Given the description of an element on the screen output the (x, y) to click on. 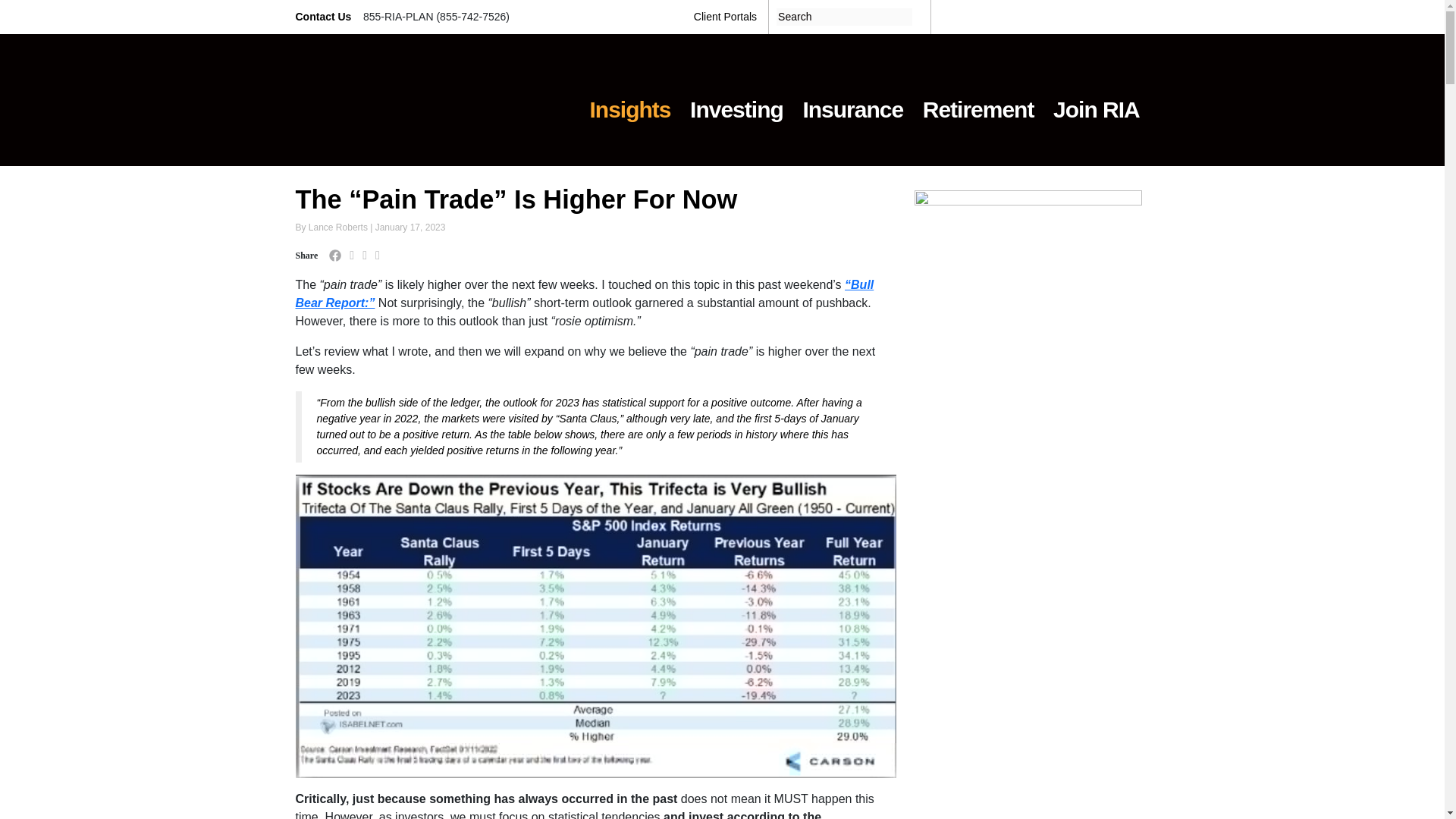
Insights (630, 99)
Investing (735, 99)
Contact Us (325, 16)
Client Portals (725, 16)
Join RIA (1095, 99)
Retirement (977, 99)
Insurance (852, 99)
